Given the description of an element on the screen output the (x, y) to click on. 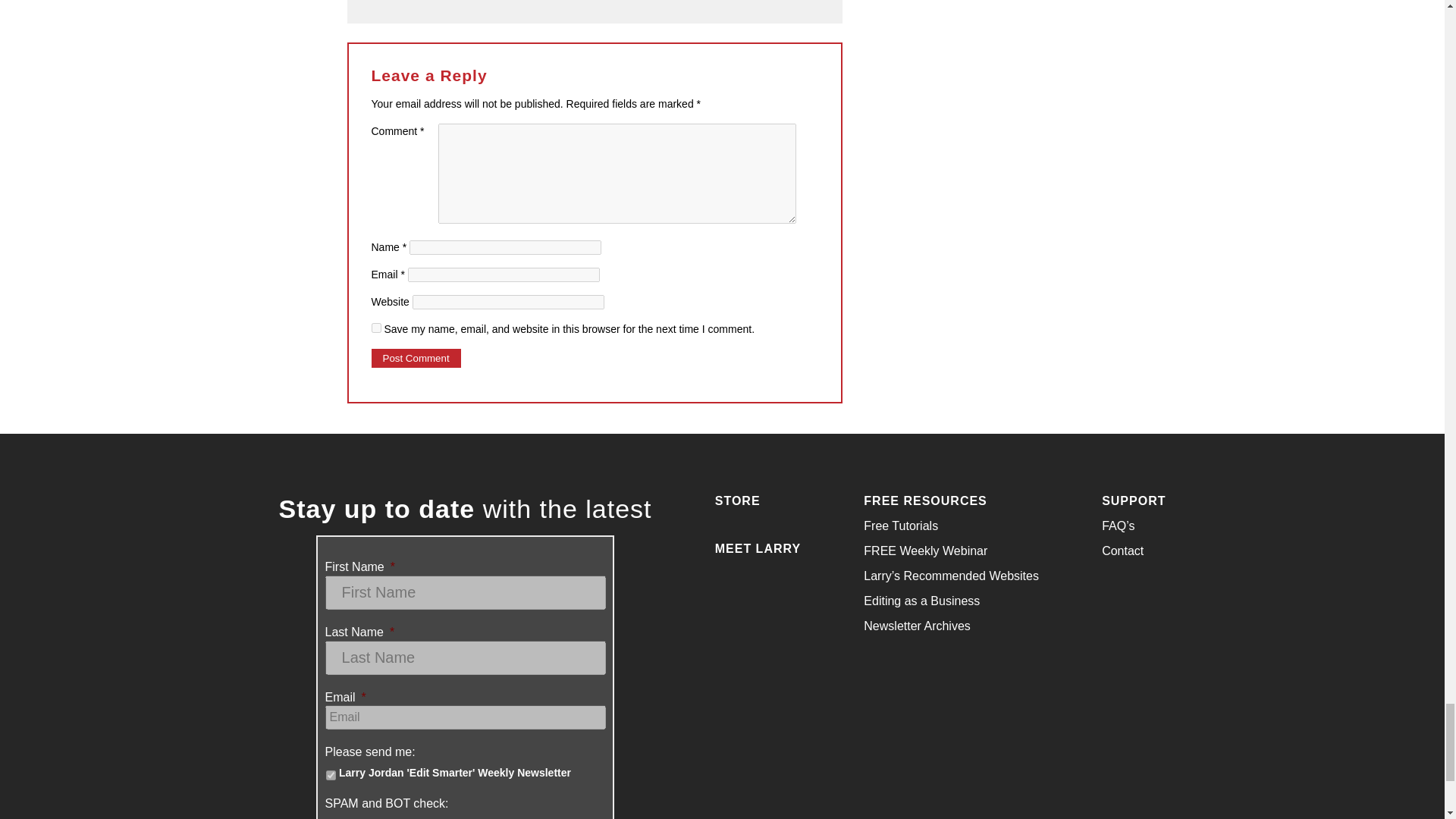
yes (376, 327)
Post Comment (416, 357)
Larry Jordan 'Edit Smarter' Weekly Newsletter (331, 775)
